Given the description of an element on the screen output the (x, y) to click on. 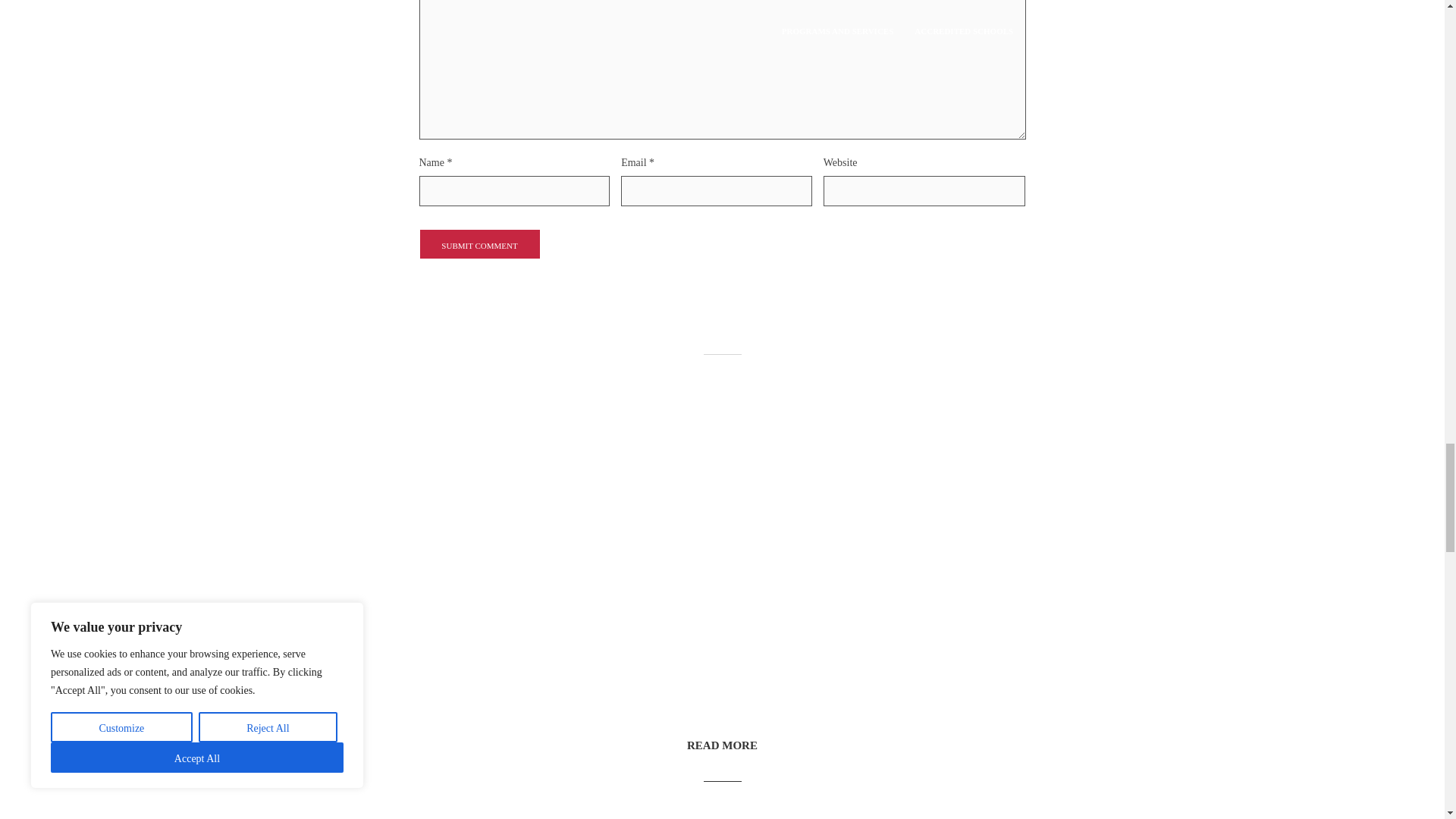
Submit Comment (479, 244)
